Given the description of an element on the screen output the (x, y) to click on. 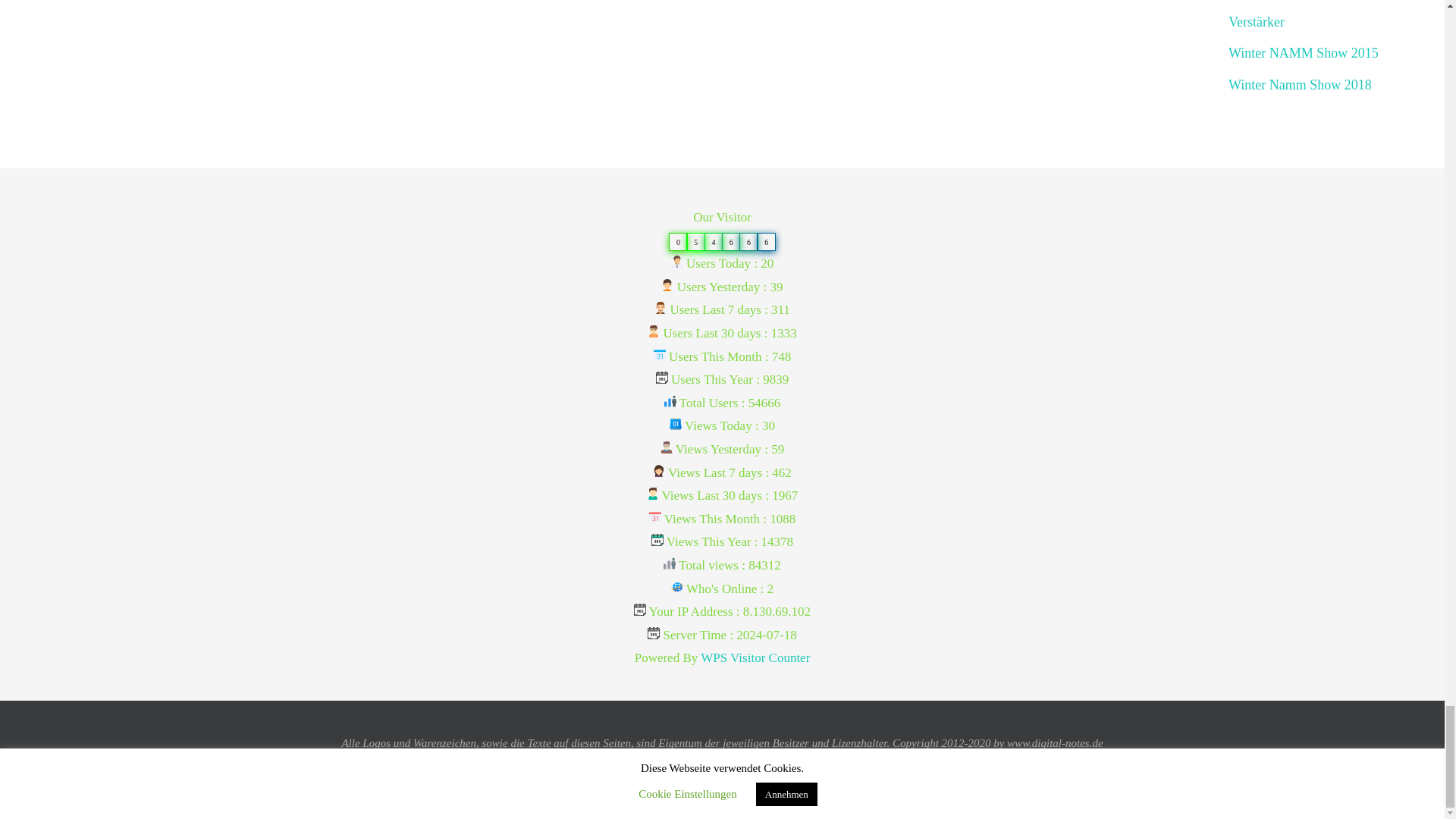
Semantic Personal Publishing Platform (769, 804)
Nirvana Theme by Cryout Creations (718, 804)
